Given the description of an element on the screen output the (x, y) to click on. 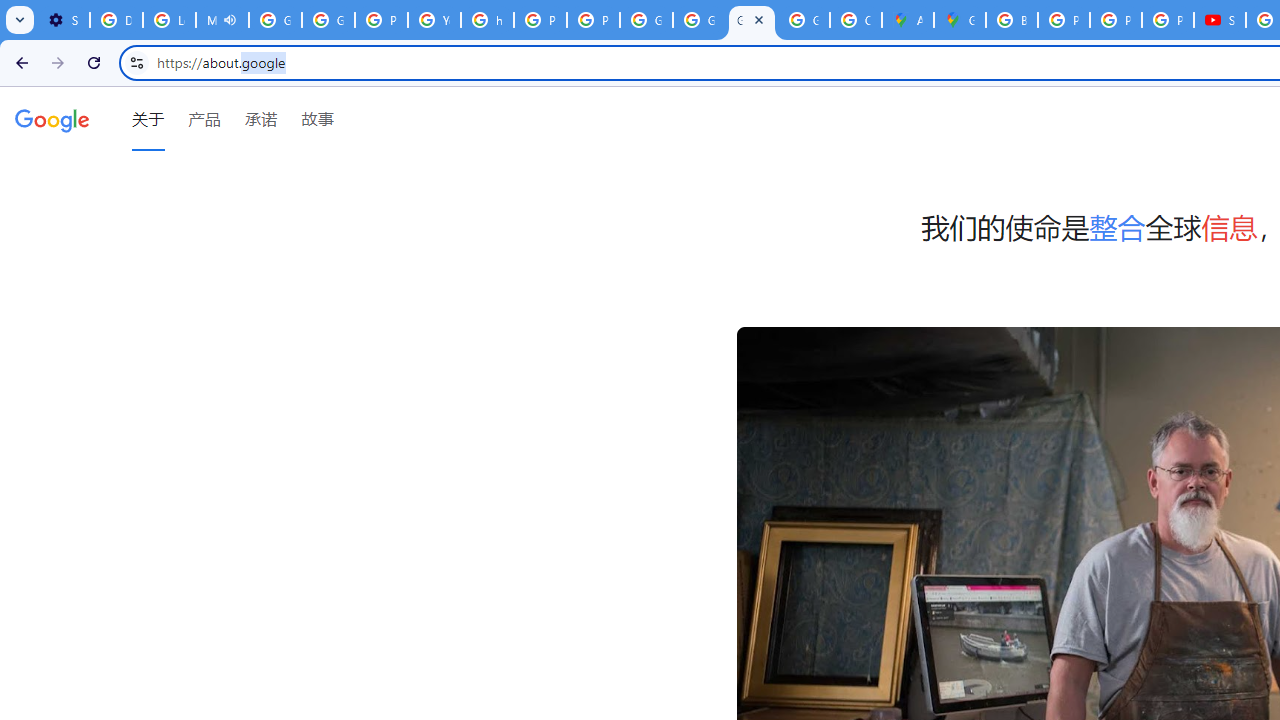
Learn how to find your photos - Google Photos Help (169, 20)
Google Account Help (275, 20)
Privacy Help Center - Policies Help (1115, 20)
